Given the description of an element on the screen output the (x, y) to click on. 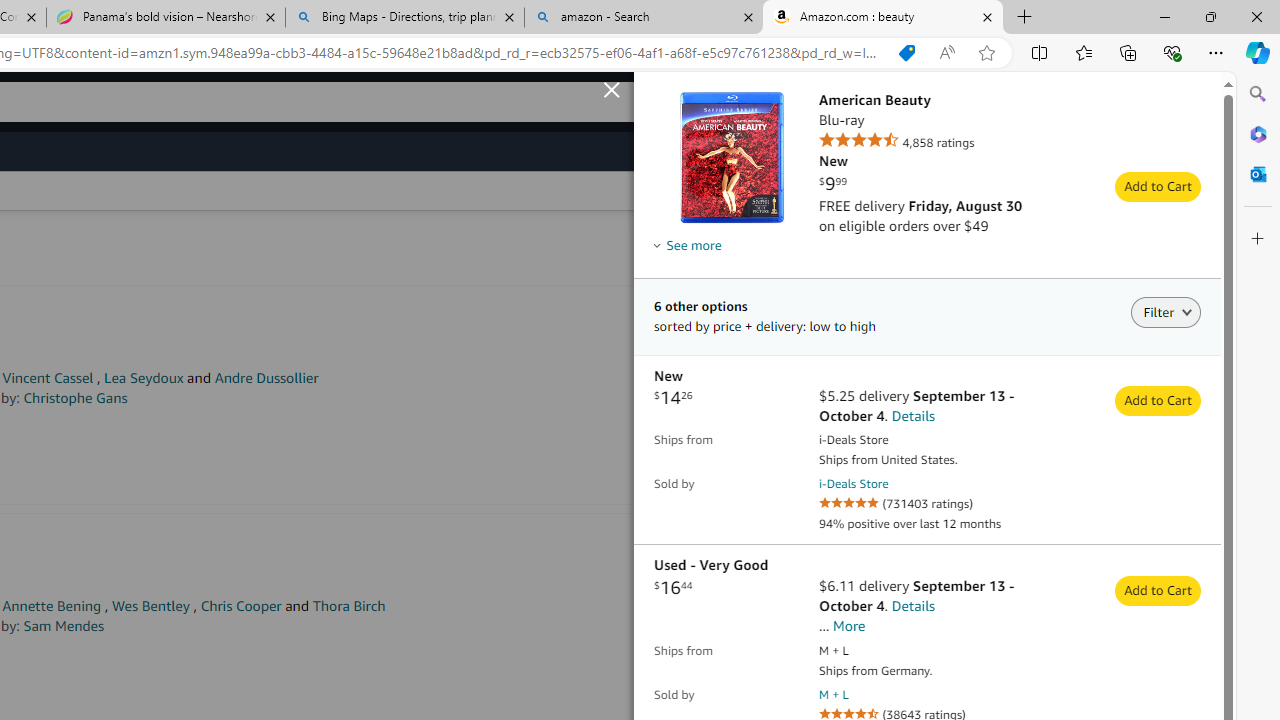
Choose a language for shopping. (743, 101)
Microsoft 365 (1258, 133)
Copilot (Ctrl+Shift+.) (1258, 52)
About details for this option. (657, 245)
Class: a-spacing-none a-link-normal (731, 157)
Sort by: (747, 191)
Vincent Cassel (47, 378)
Shopping in Microsoft Edge (906, 53)
